Given the description of an element on the screen output the (x, y) to click on. 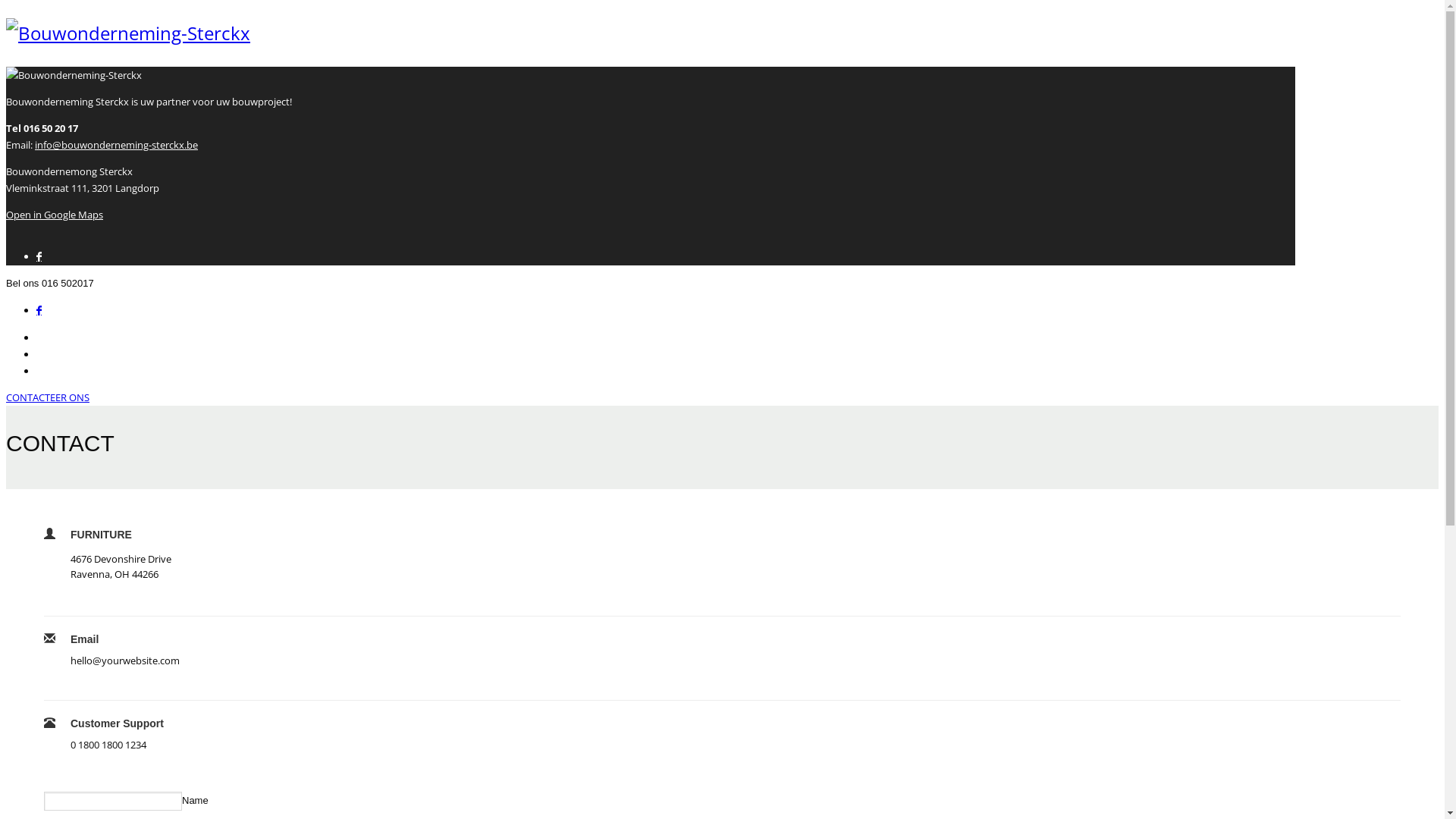
Facebook Element type: hover (38, 310)
Facebook Element type: hover (38, 256)
BEDRIJF Element type: text (56, 354)
Open in Google Maps Element type: text (54, 214)
HOME Element type: text (51, 337)
CONTACTEER ONS Element type: text (47, 397)
Bouwen en verbouwen Element type: hover (128, 33)
info@bouwonderneming-sterckx.be Element type: text (115, 144)
PROJECTEN Element type: text (64, 370)
